Given the description of an element on the screen output the (x, y) to click on. 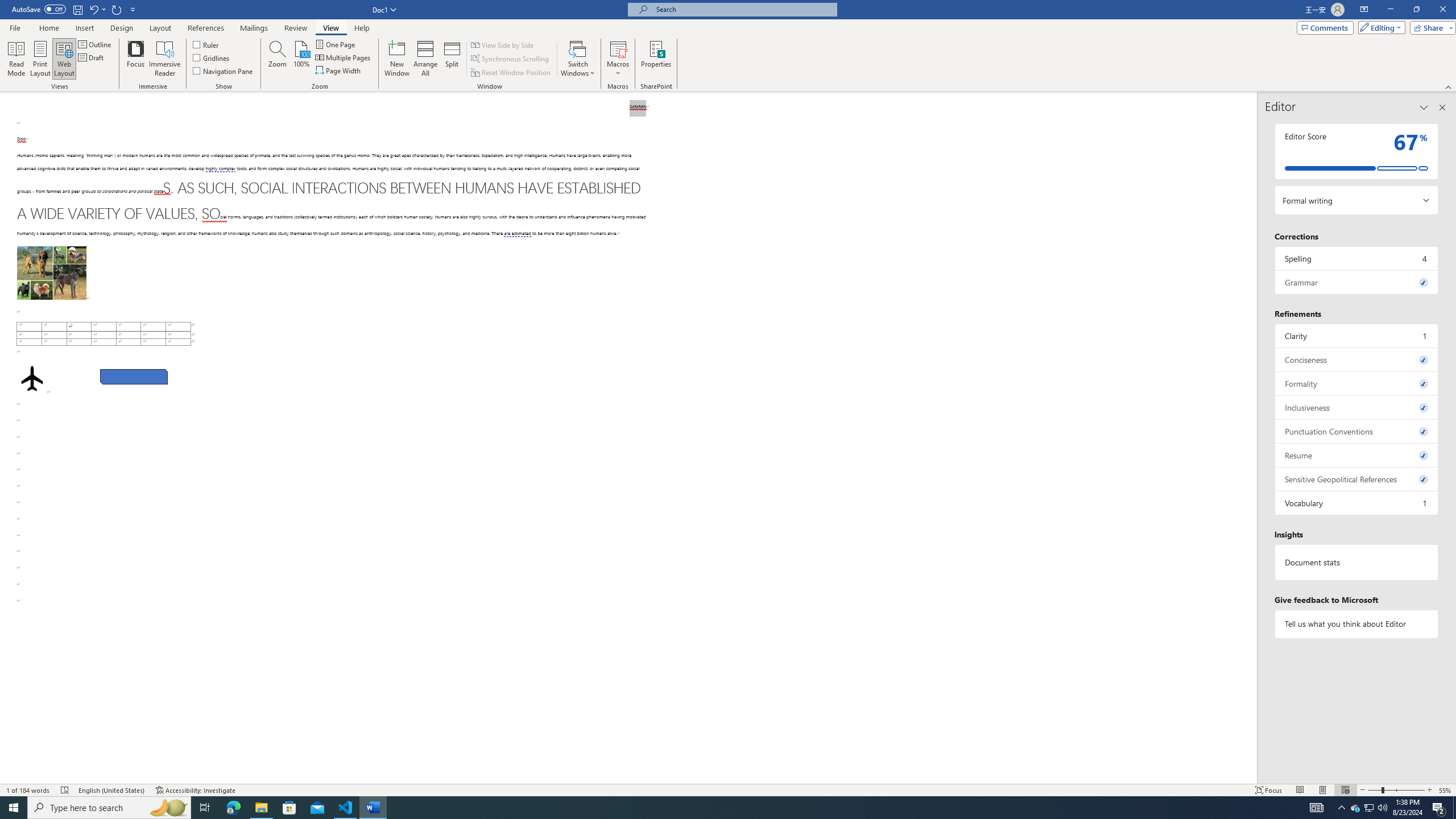
Multiple Pages (343, 56)
Arrange All (425, 58)
Immersive Reader (165, 58)
Grammar, 0 issues. Press space or enter to review items. (1356, 282)
Zoom 55% (1445, 790)
Spelling, 4 issues. Press space or enter to review items. (1356, 258)
